Given the description of an element on the screen output the (x, y) to click on. 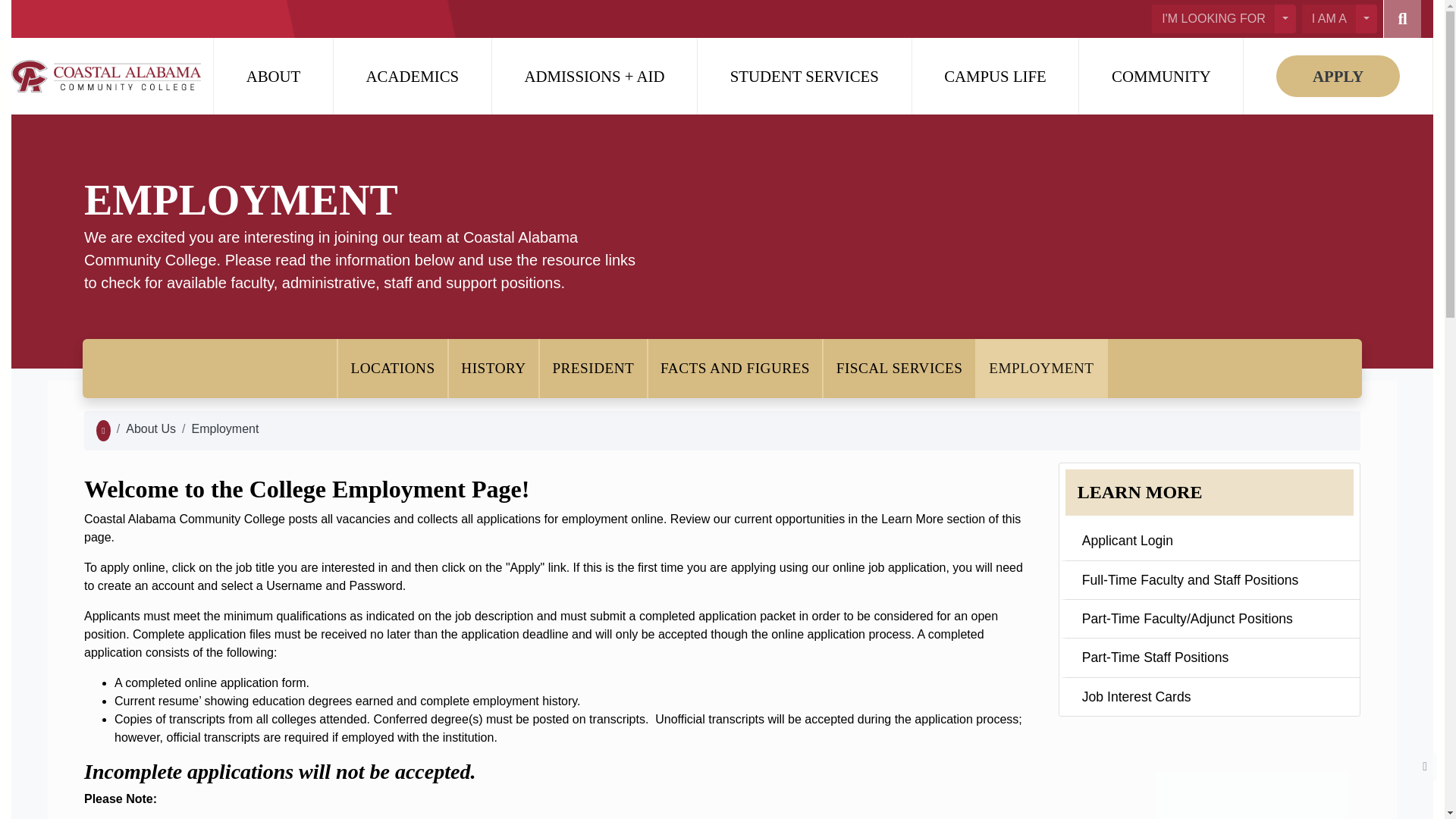
I AM A (1328, 18)
about (150, 430)
I'M LOOKING FOR (1213, 18)
Full-Time Faculty and Staff Positions (1213, 579)
History (492, 368)
ABOUT (273, 75)
Facts and Figures (734, 368)
Locations (392, 368)
Part-Time Staff Positions (1213, 657)
Employment (1040, 368)
Fiscal Services (899, 368)
Job Interest Cards (1213, 696)
employment (224, 430)
GO (1402, 18)
President (593, 368)
